Given the description of an element on the screen output the (x, y) to click on. 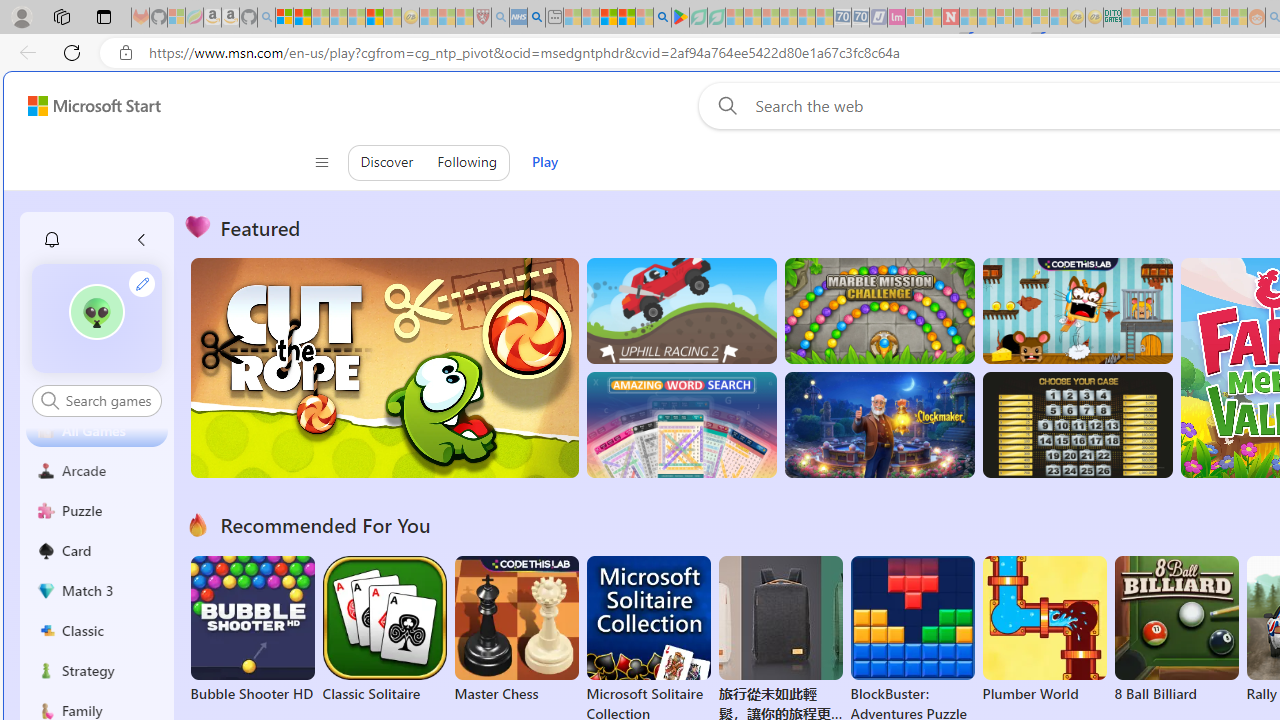
Class: search-icon (50, 400)
Class: control icon-only (320, 162)
Cut the Rope (383, 367)
AutomationID: control (108, 400)
